Given the description of an element on the screen output the (x, y) to click on. 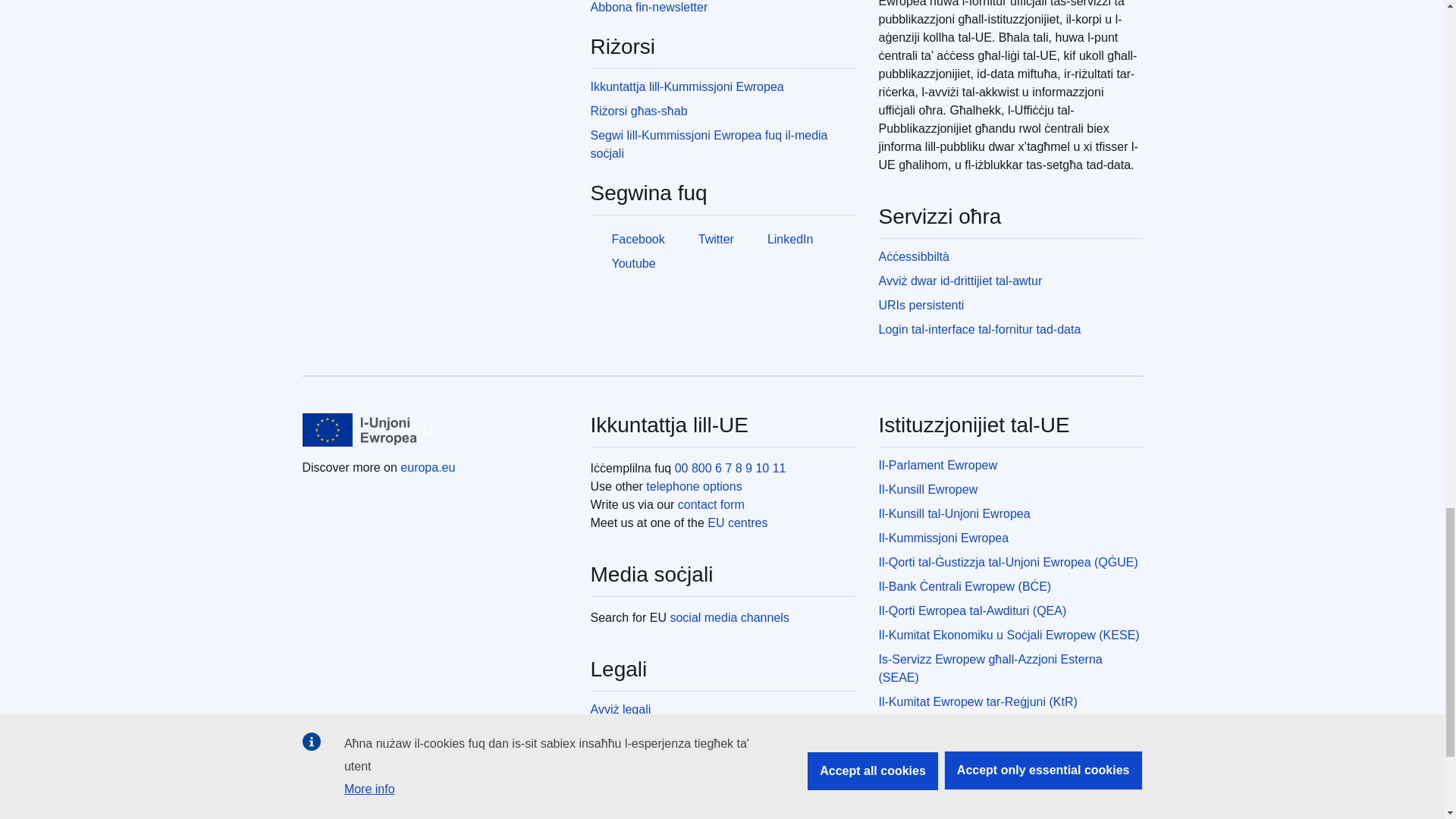
European Union (358, 429)
